Given the description of an element on the screen output the (x, y) to click on. 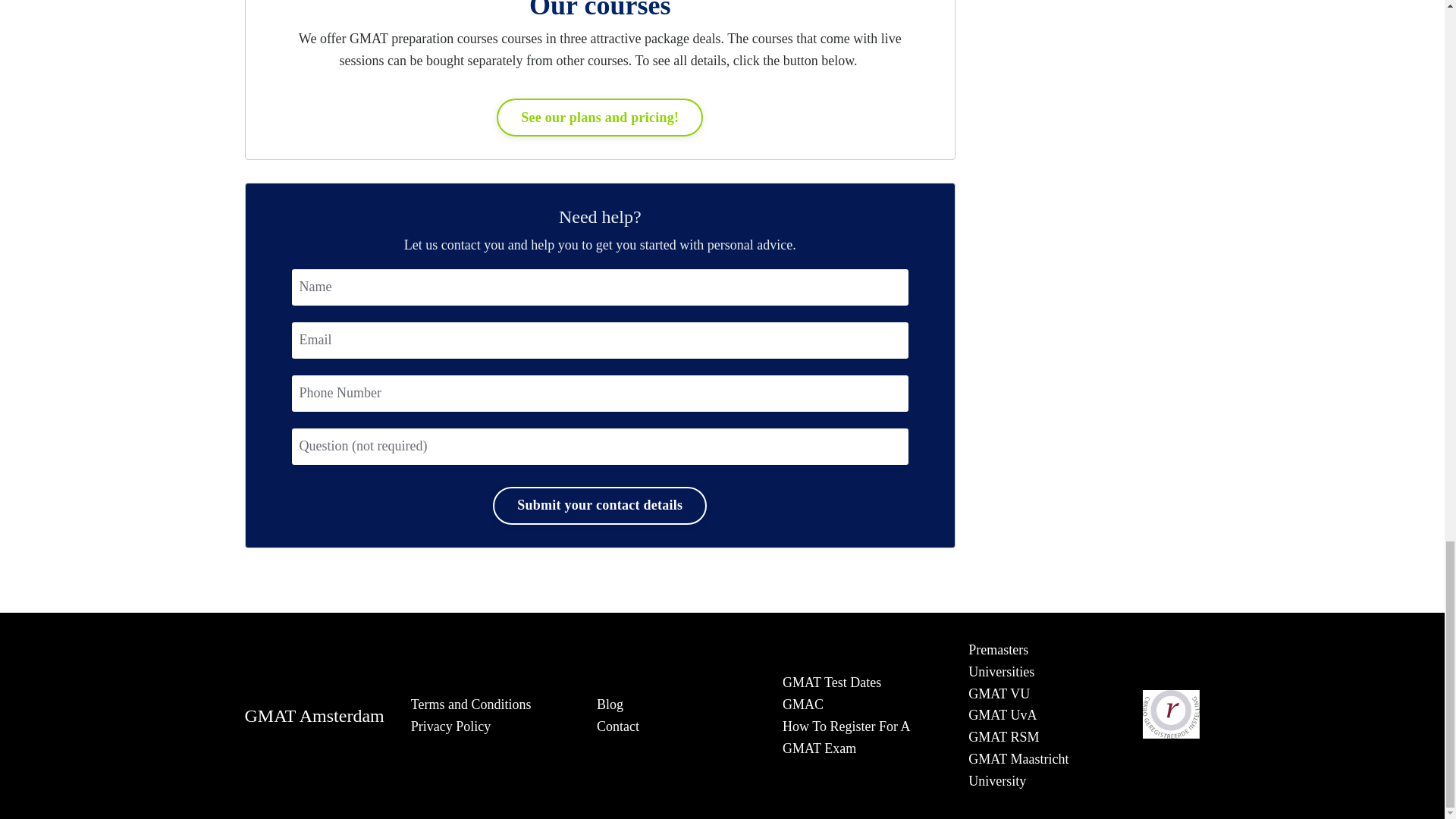
See our plans and pricing! (599, 117)
Submit your contact details (599, 505)
Submit your contact details (599, 505)
